Given the description of an element on the screen output the (x, y) to click on. 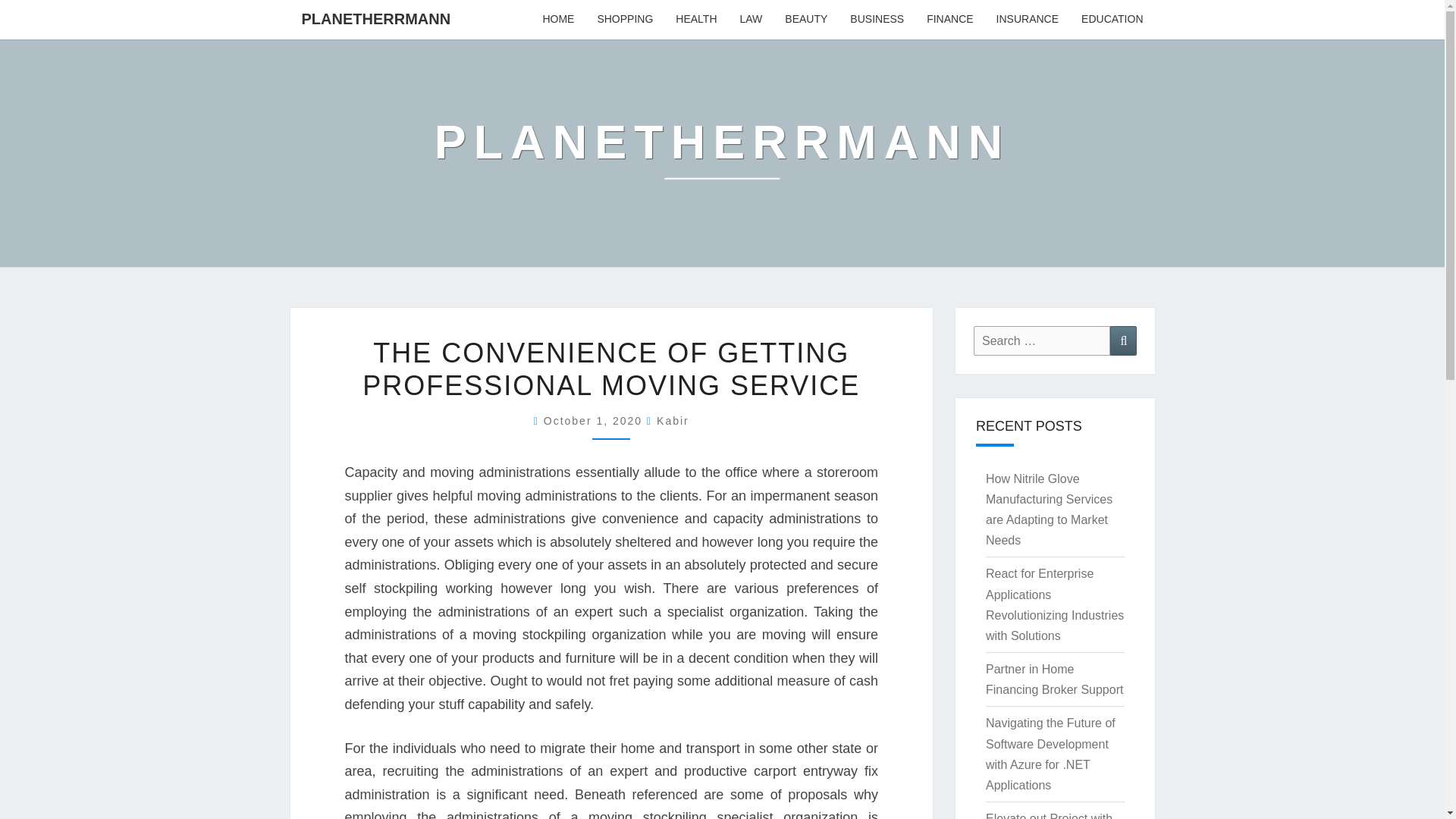
October 1, 2020 (594, 420)
HOME (558, 19)
BEAUTY (805, 19)
Search (1123, 340)
Partner in Home Financing Broker Support (1053, 679)
SHOPPING (624, 19)
Planetherrmann (721, 152)
PLANETHERRMANN (375, 18)
EDUCATION (1112, 19)
